Given the description of an element on the screen output the (x, y) to click on. 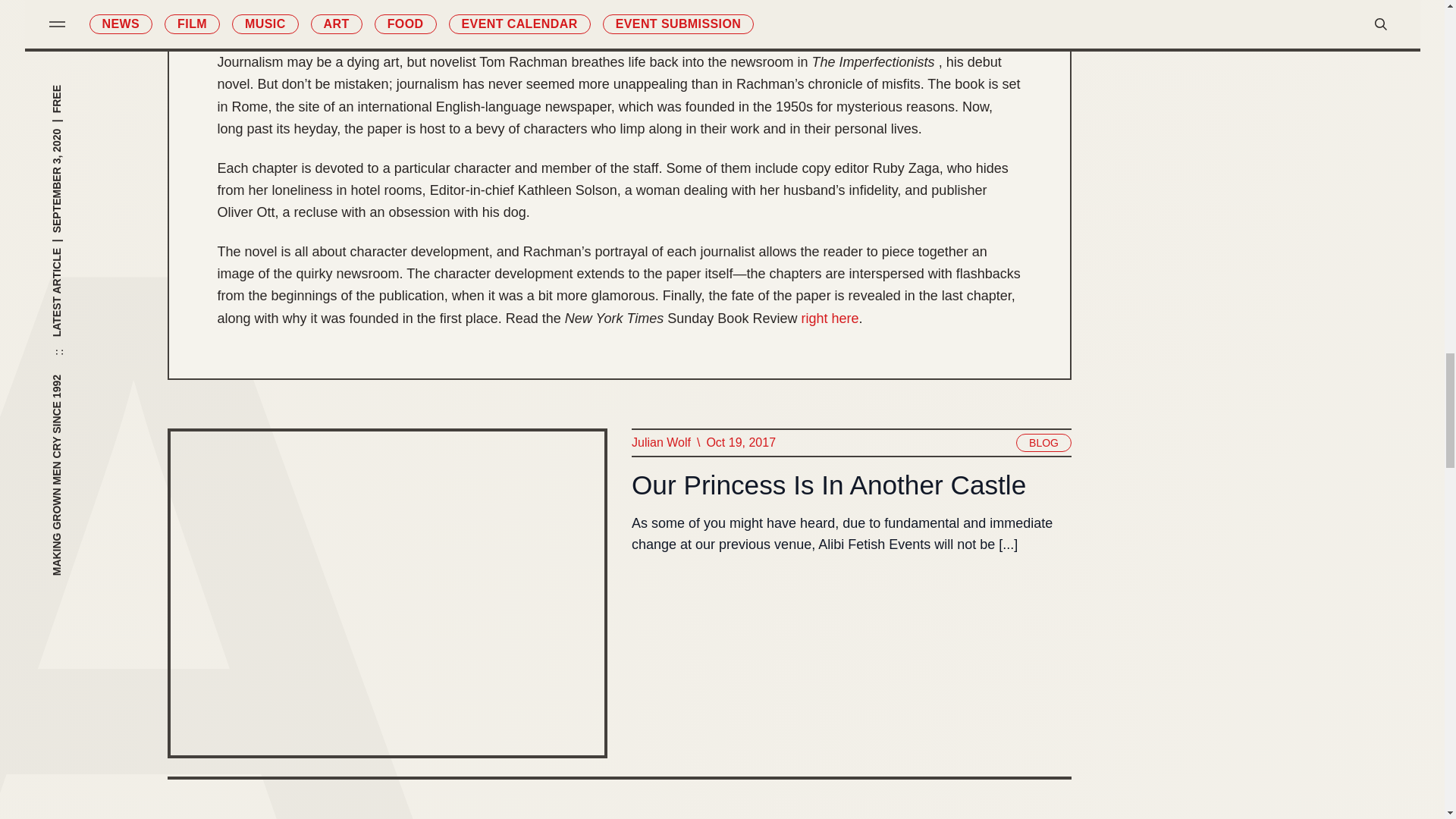
Julian Wolf (660, 442)
right here (829, 318)
BLOG (1043, 443)
